Given the description of an element on the screen output the (x, y) to click on. 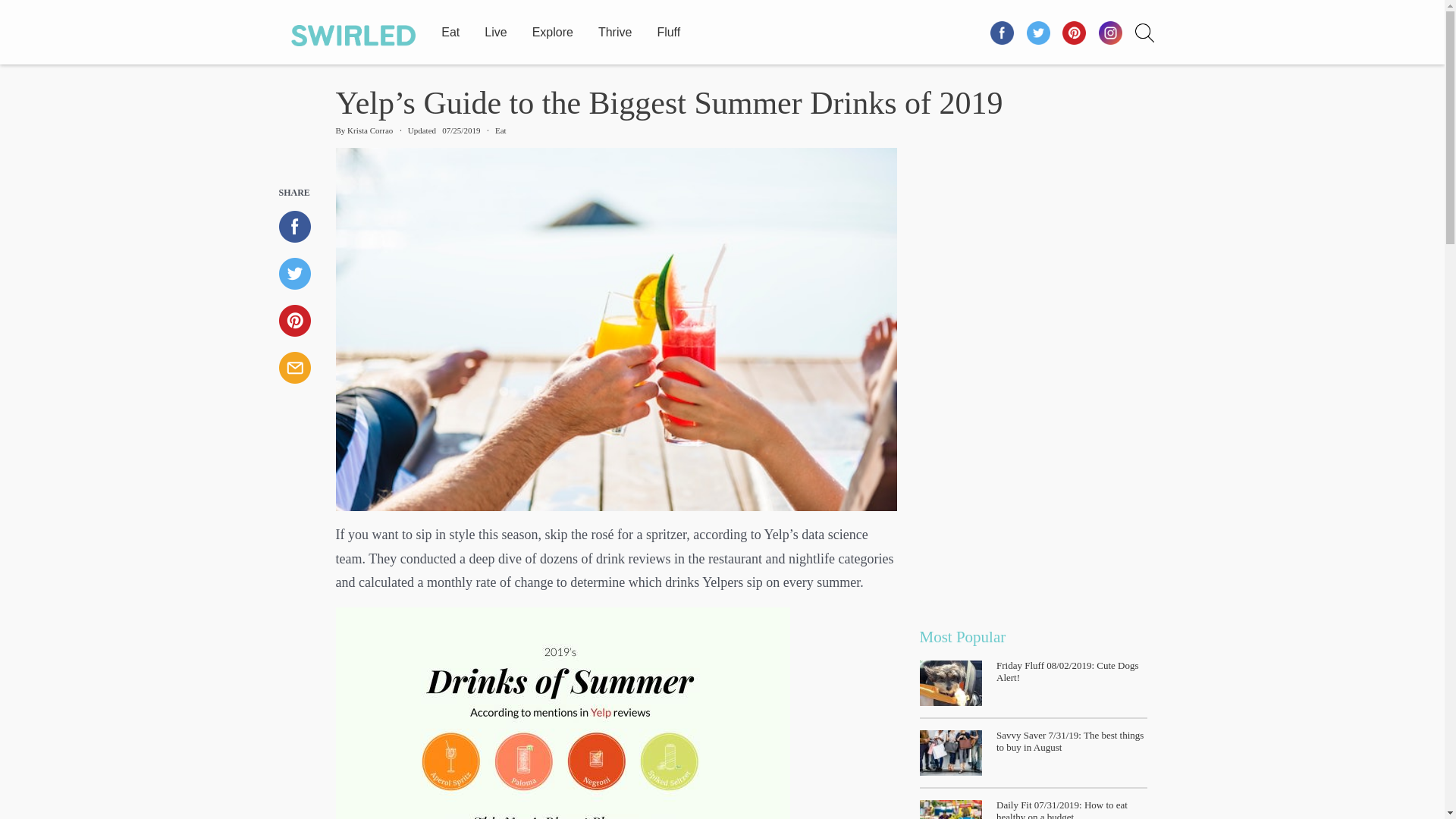
Facebook (1003, 31)
Twitter (1038, 31)
Thrive (614, 28)
Fluff (667, 28)
Twitter (301, 273)
Facebook (301, 226)
Mail (301, 368)
Live (495, 28)
Instagram (1109, 31)
Pinterest (1075, 31)
Explore (552, 28)
Pinterest (301, 320)
